Given the description of an element on the screen output the (x, y) to click on. 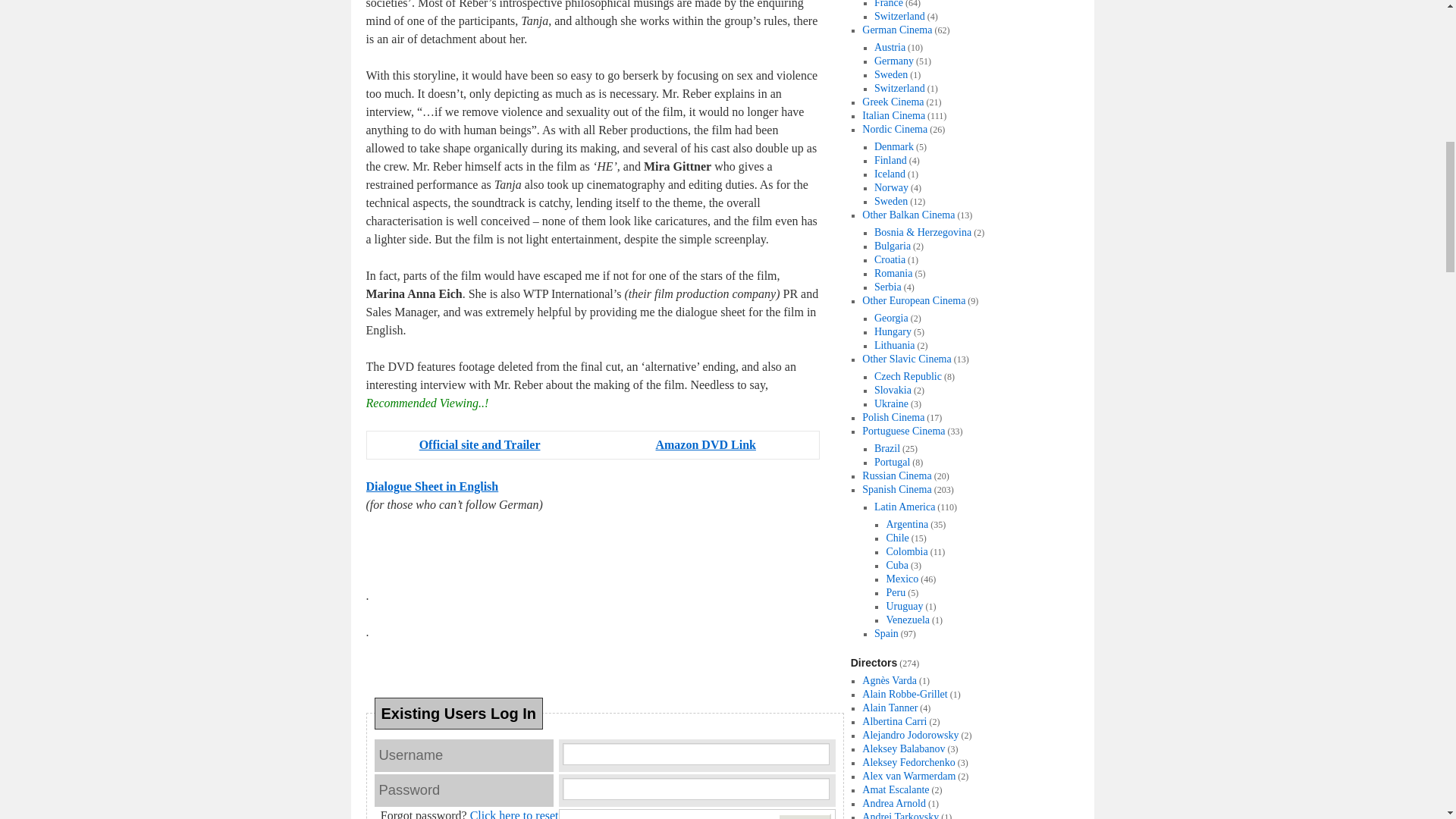
Log In (803, 816)
Official site and Trailer (479, 444)
Log In (803, 816)
Amazon DVD Link (705, 444)
Click here to reset (514, 814)
Dialogue Sheet in English (431, 486)
